Given the description of an element on the screen output the (x, y) to click on. 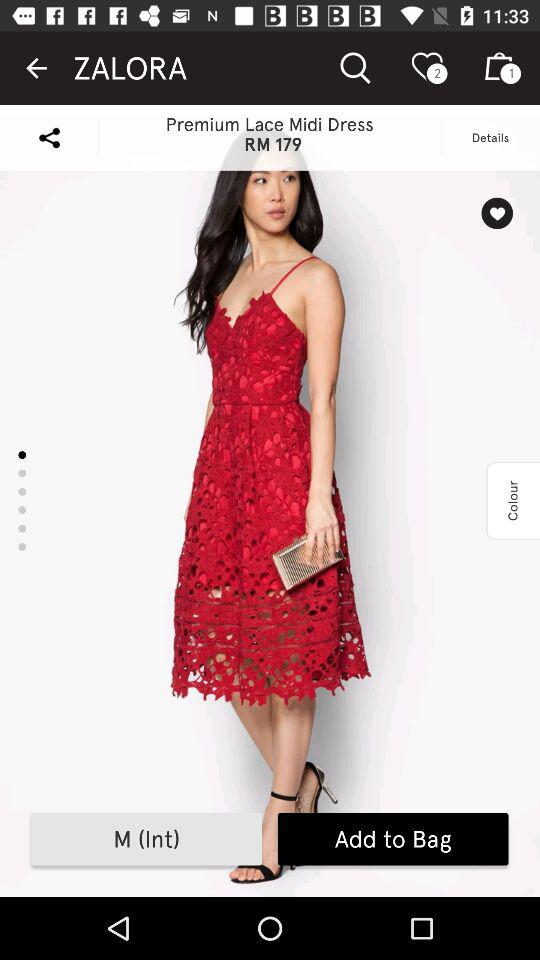
turn on item next to m (int) (392, 839)
